Given the description of an element on the screen output the (x, y) to click on. 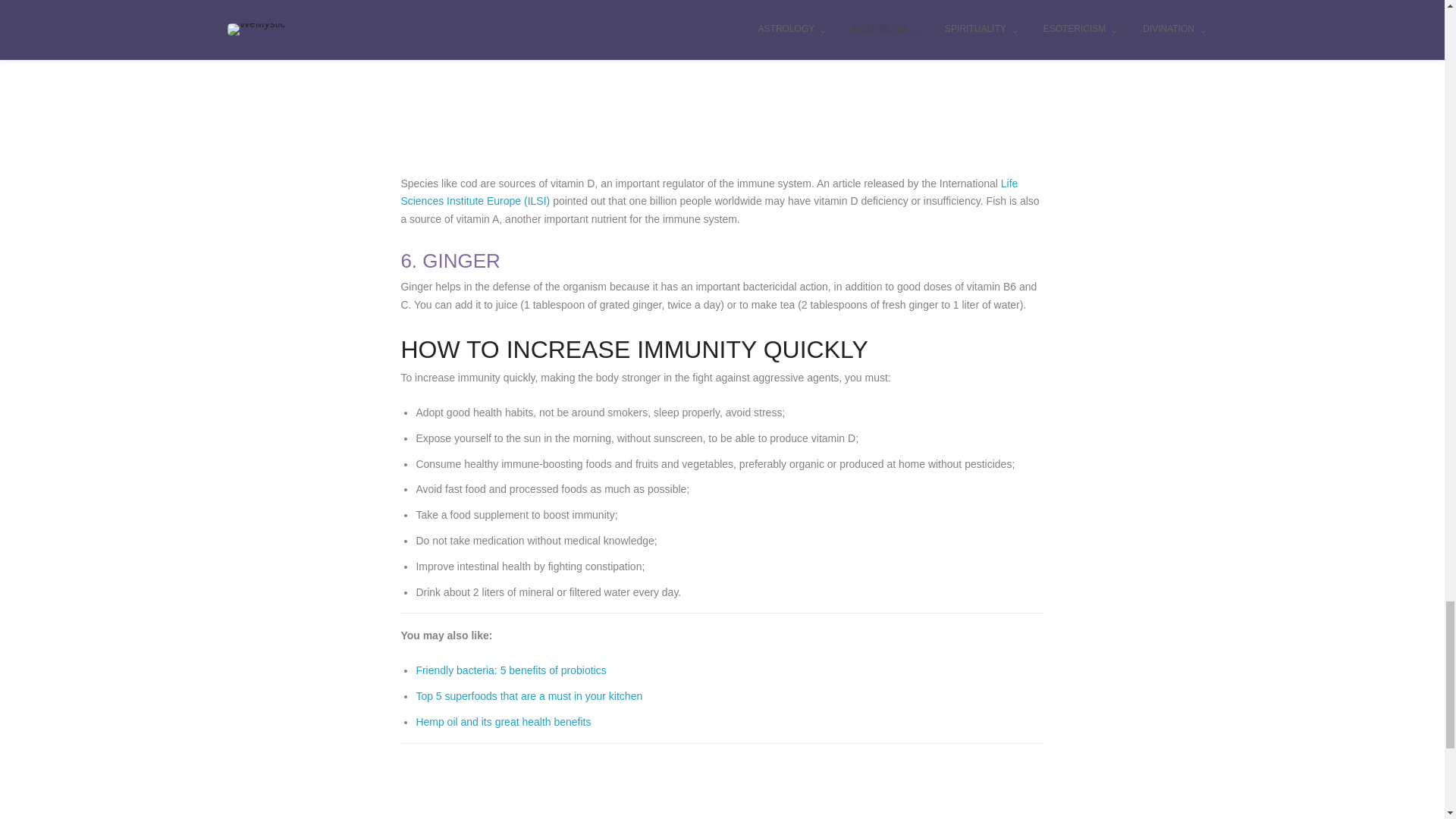
Friendly bacteria: 5 benefits of probiotics (509, 670)
Top 5 superfoods that are a must in your kitchen (528, 695)
Hemp oil and its great health benefits (502, 721)
